Given the description of an element on the screen output the (x, y) to click on. 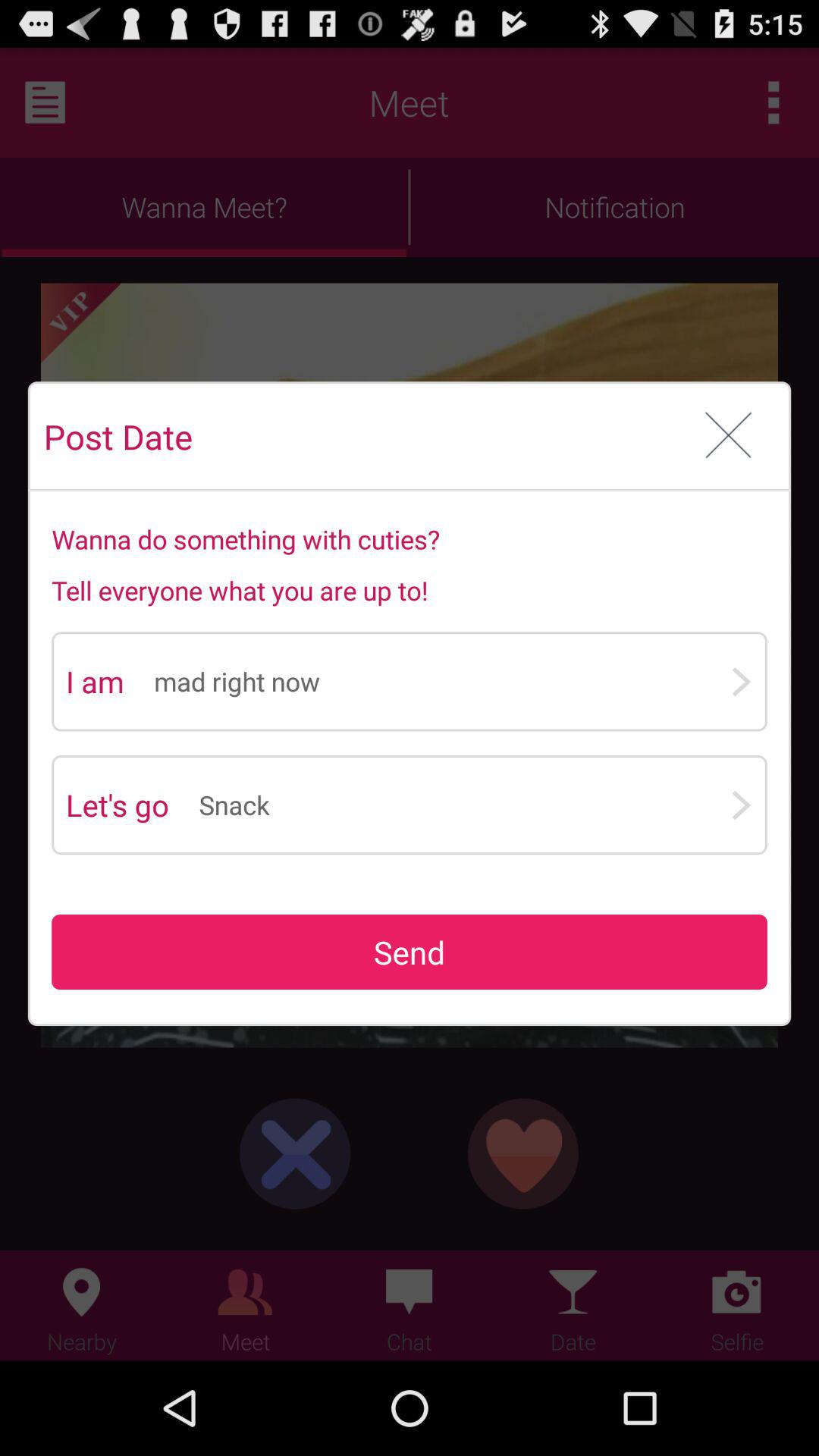
close the window (728, 436)
